Given the description of an element on the screen output the (x, y) to click on. 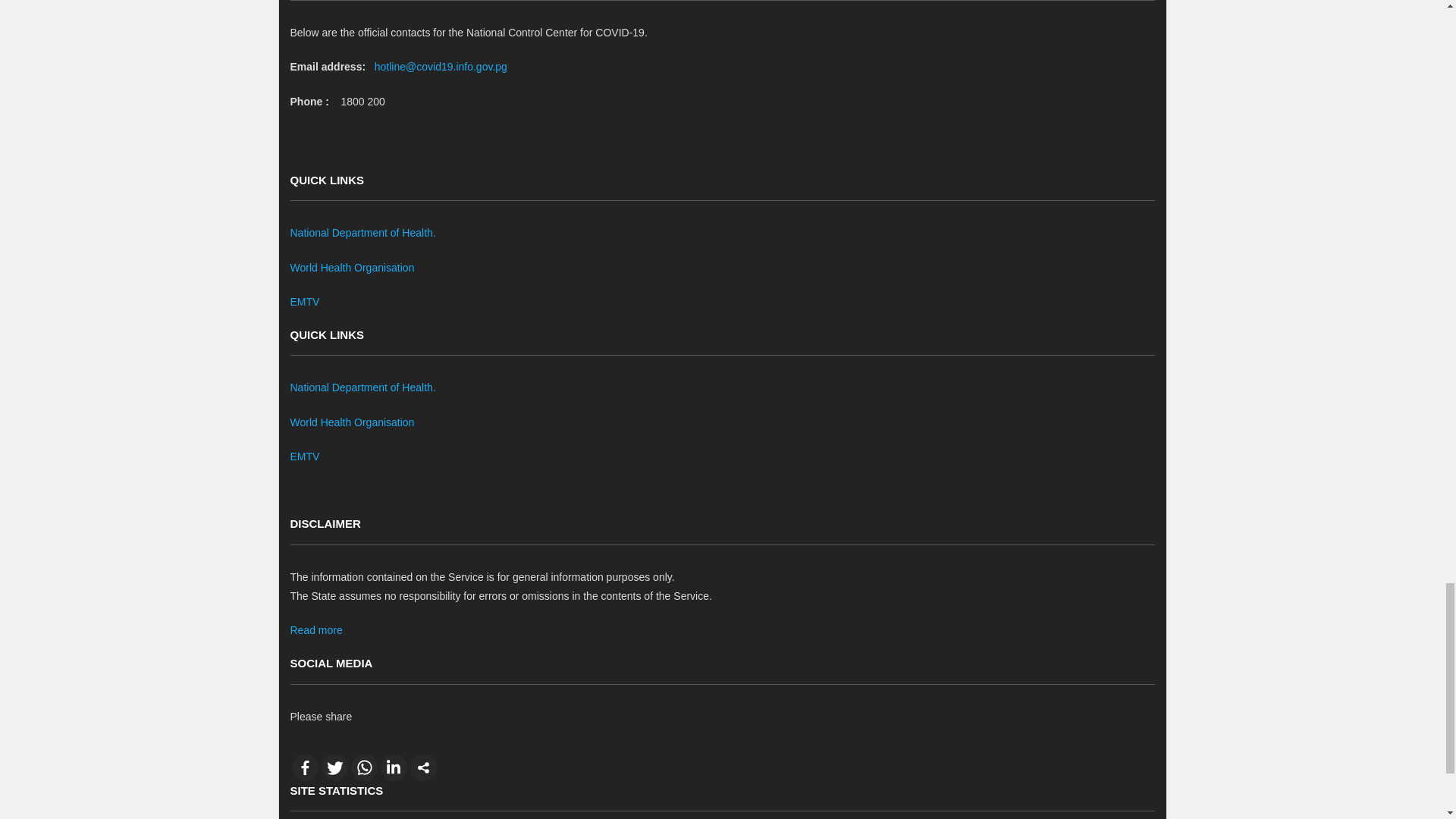
EMTV (303, 456)
Linkedin (393, 767)
Twitter (334, 767)
World Health Organisation (351, 422)
National Department of Health. (362, 232)
Whatsapp (363, 767)
National Department of Health. (362, 387)
World Health Organisation (351, 267)
EMTV (303, 301)
Facebook (304, 767)
